Given the description of an element on the screen output the (x, y) to click on. 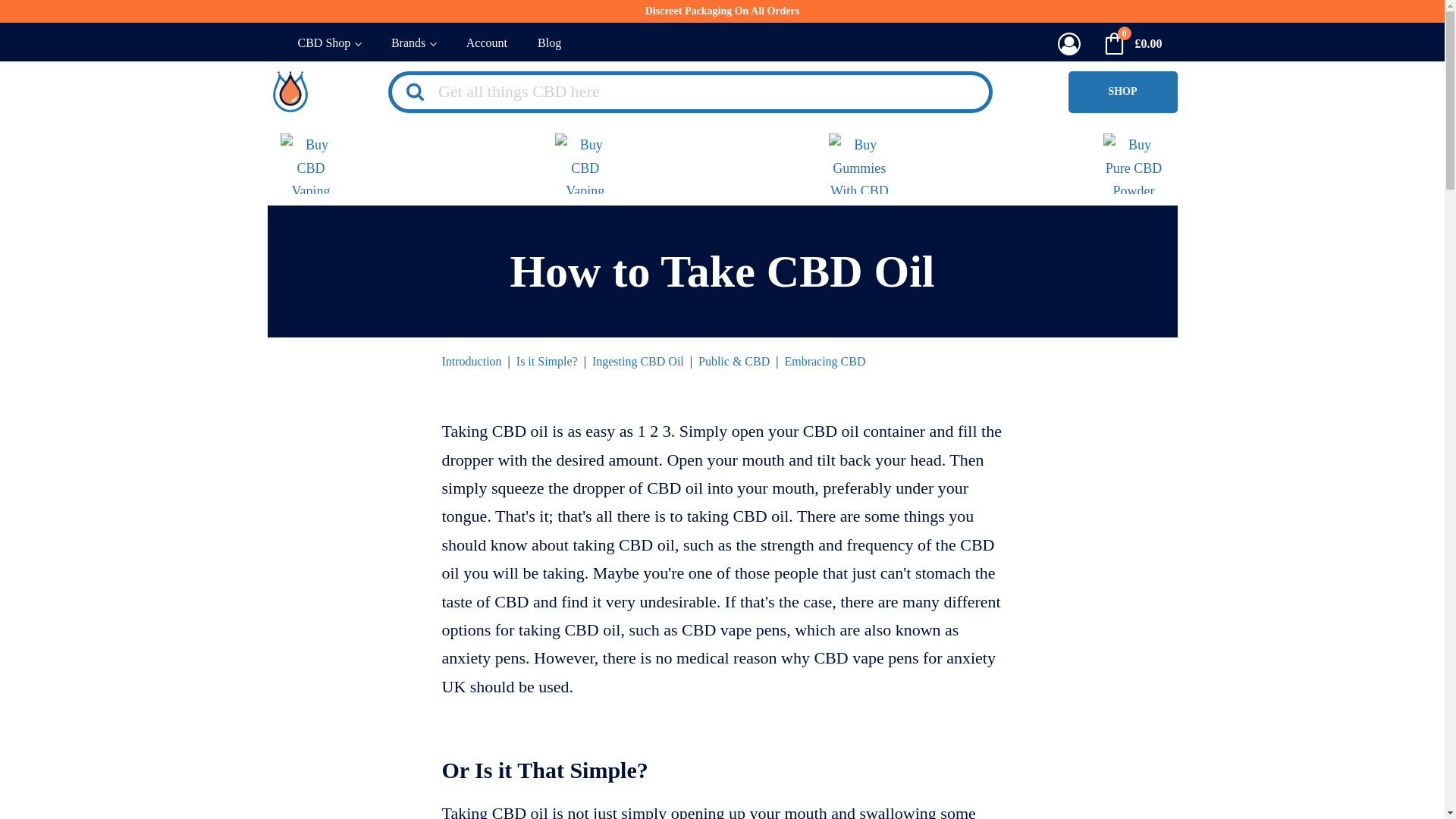
Account (486, 43)
SHOP (1121, 92)
Blog (549, 43)
Brands (413, 43)
Is it Simple? (547, 361)
Embracing CBD (824, 361)
Introduction (470, 361)
CBD Shop (328, 43)
Ingesting CBD Oil (638, 361)
Search (40, 18)
